Given the description of an element on the screen output the (x, y) to click on. 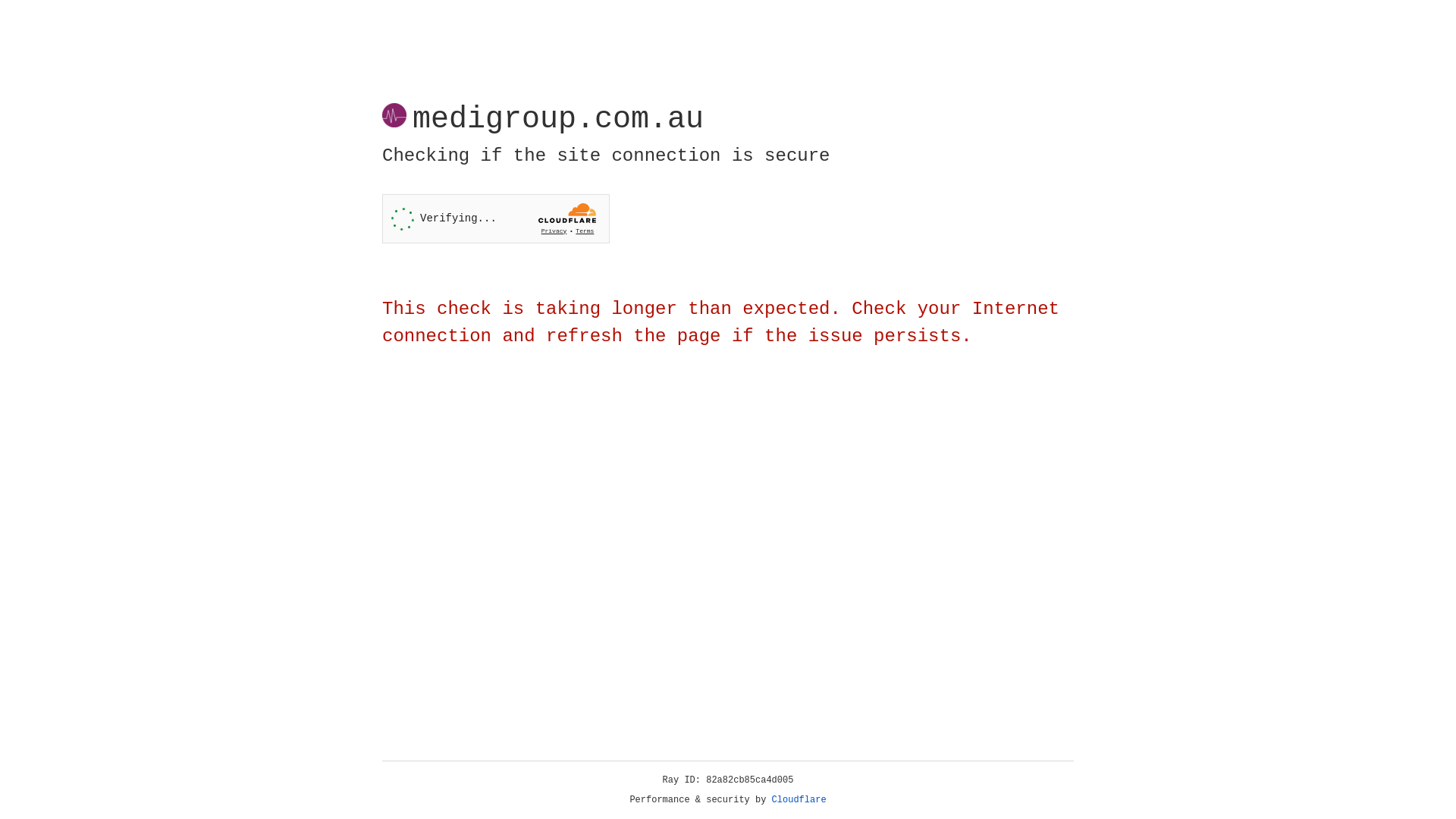
Widget containing a Cloudflare security challenge Element type: hover (495, 218)
